Given the description of an element on the screen output the (x, y) to click on. 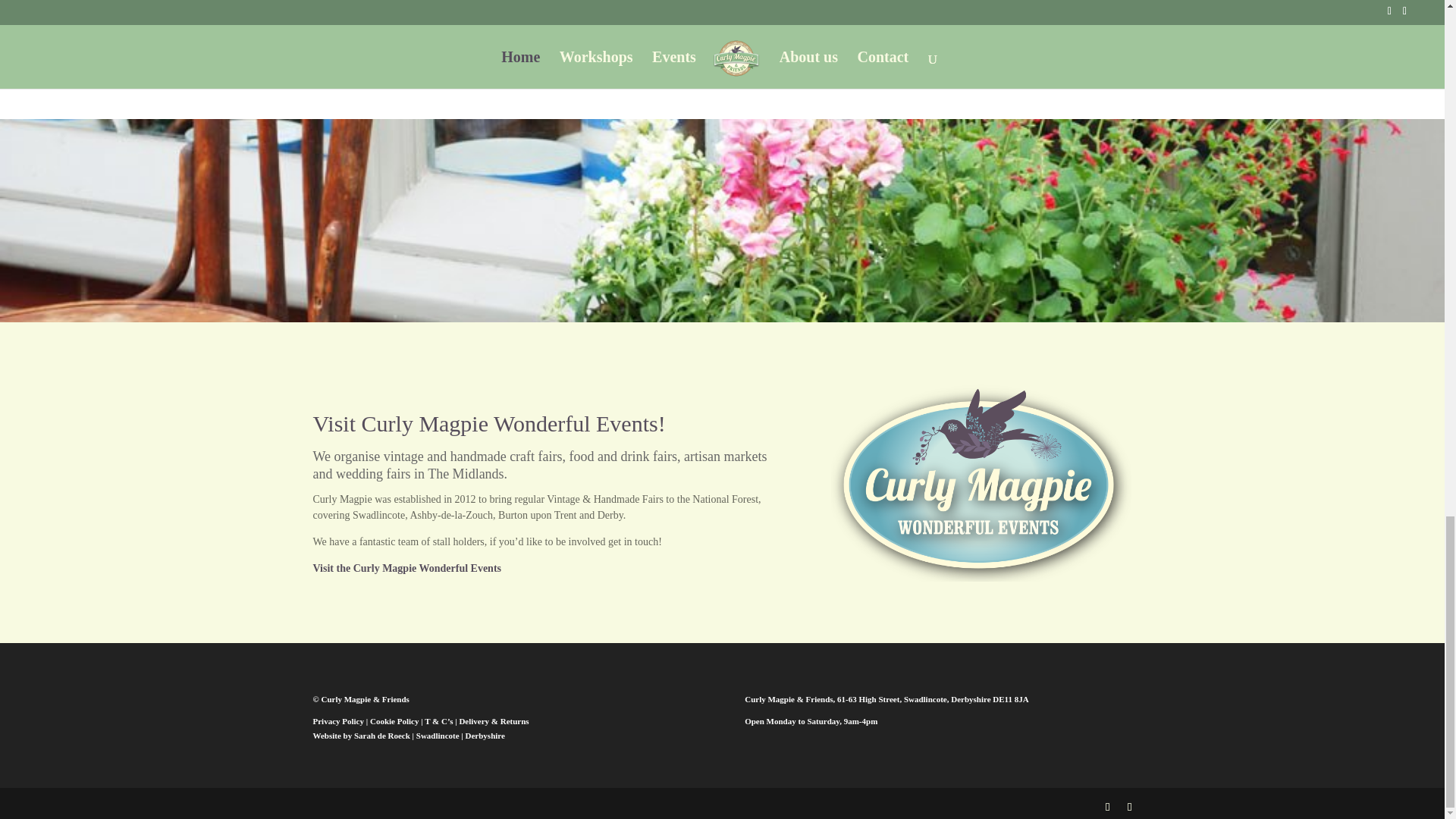
Instagram (465, 38)
Follow (366, 38)
Follow on Facebook (324, 39)
Follow on Instagram (421, 39)
Facebook (366, 38)
Follow (465, 38)
